Given the description of an element on the screen output the (x, y) to click on. 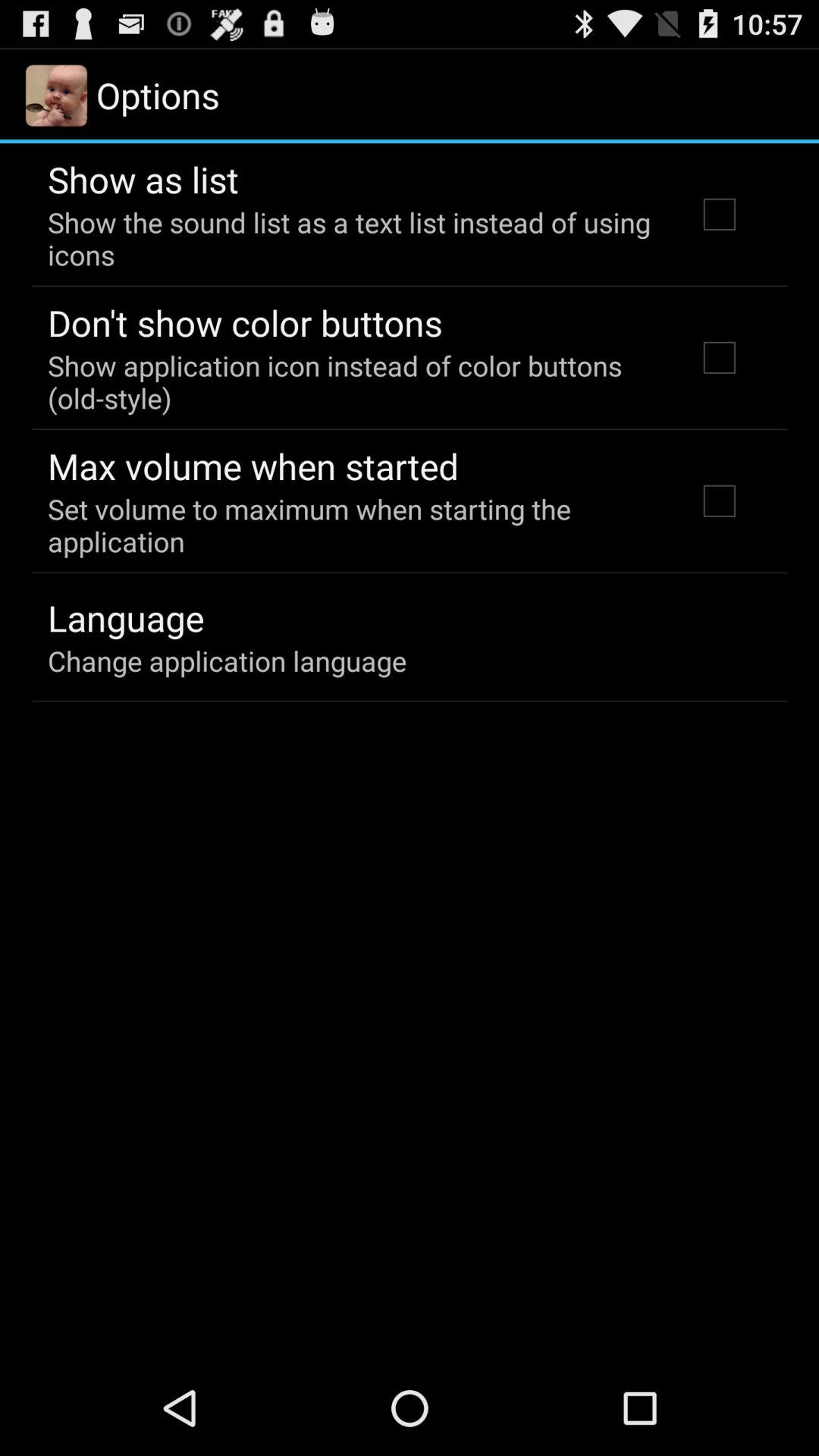
select app at the center (351, 525)
